Given the description of an element on the screen output the (x, y) to click on. 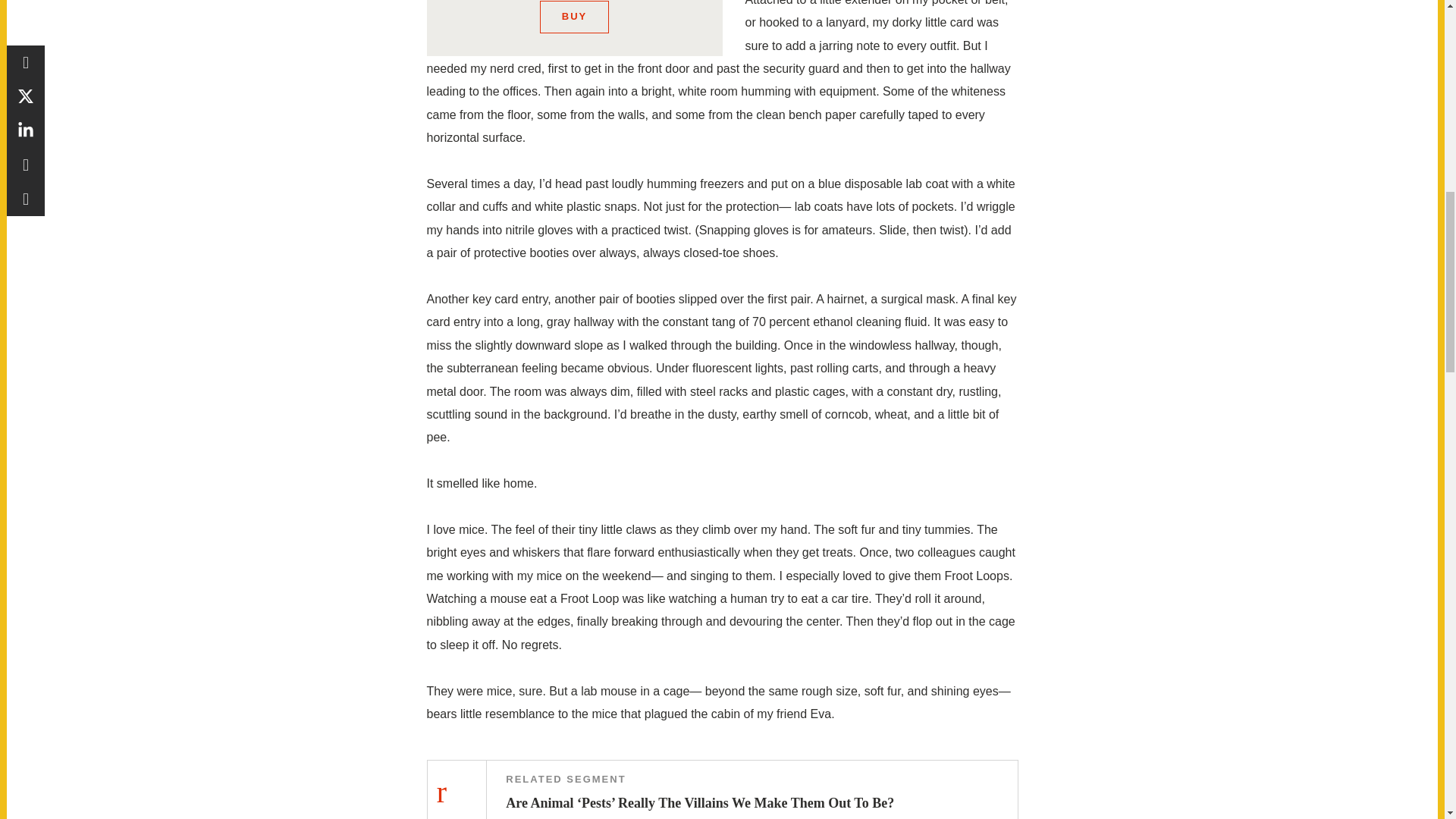
Buy (574, 16)
